Given the description of an element on the screen output the (x, y) to click on. 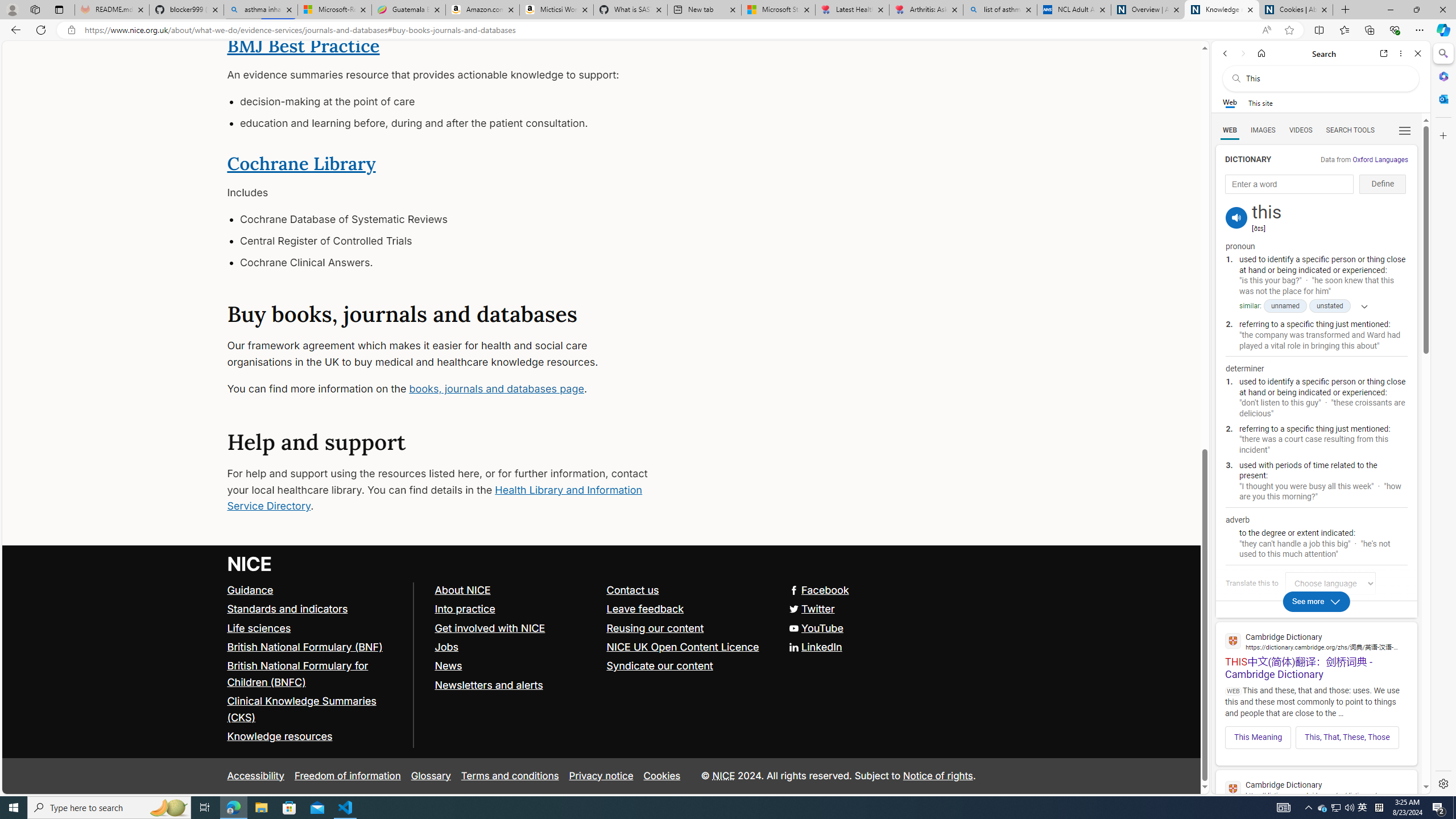
Search Filter, Search Tools (1350, 129)
Link for logging (1333, 582)
Facebook (601, 590)
Personal Profile (12, 9)
New tab (703, 9)
Facebook (817, 589)
Global web icon (1232, 788)
Go to NICE home page (250, 563)
Twitter (810, 608)
